Given the description of an element on the screen output the (x, y) to click on. 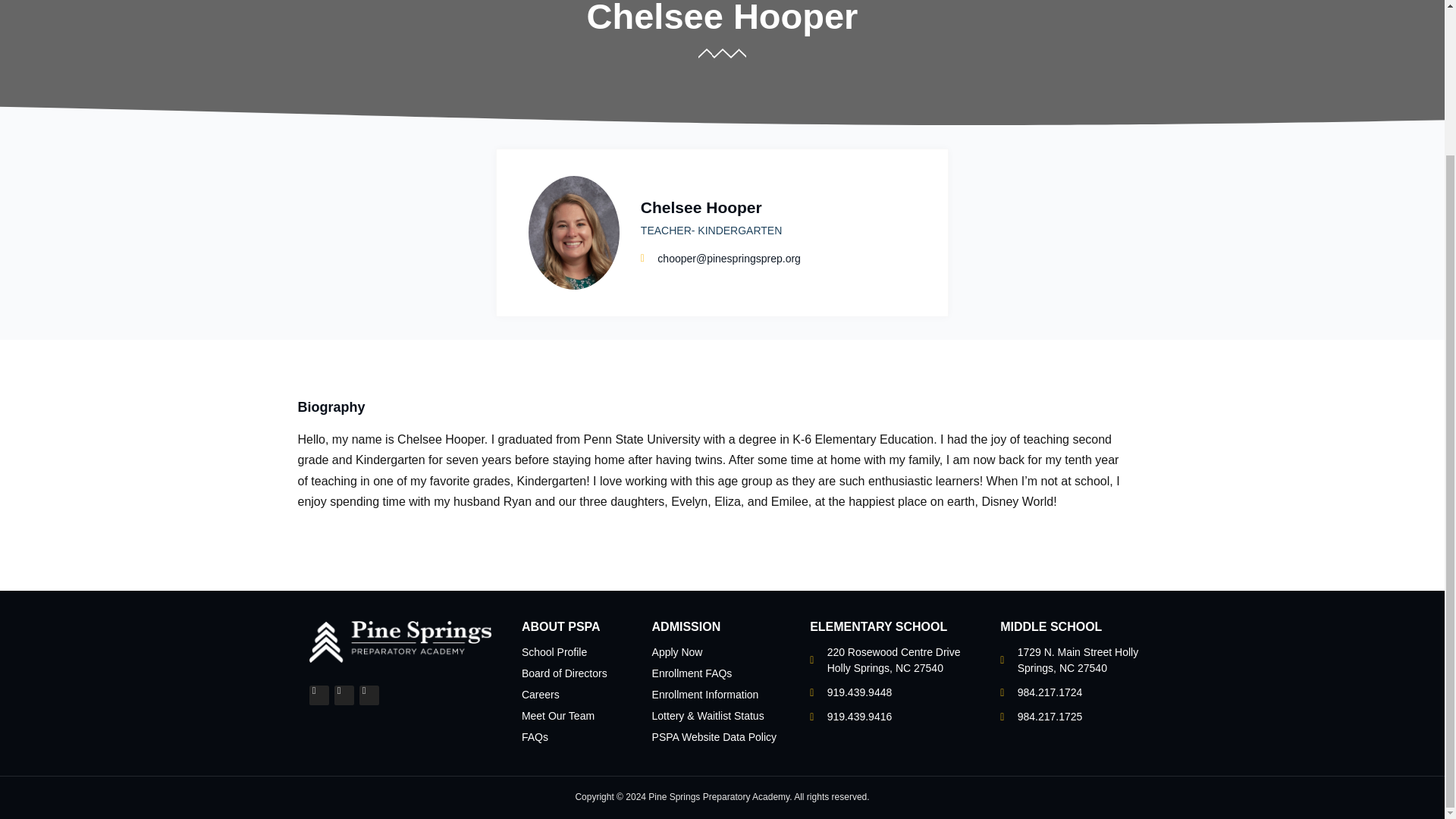
Enrollment Information (705, 694)
Apply Now (677, 652)
School Profile (553, 652)
Board of Directors (564, 673)
Meet Our Team (557, 715)
Careers (540, 694)
Enrollment FAQs (692, 673)
FAQs (534, 737)
PSPA Website Data Policy (714, 737)
